Given the description of an element on the screen output the (x, y) to click on. 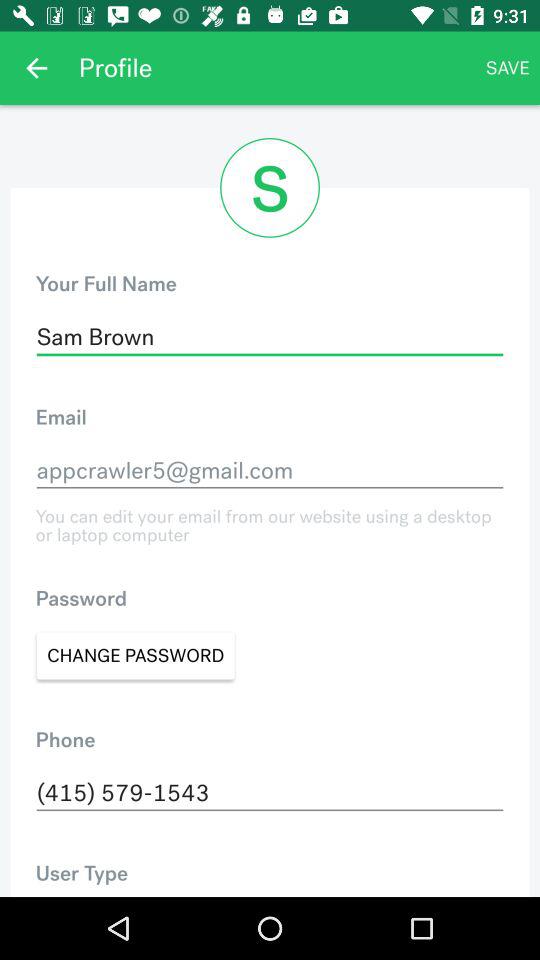
click item below the phone icon (269, 793)
